Given the description of an element on the screen output the (x, y) to click on. 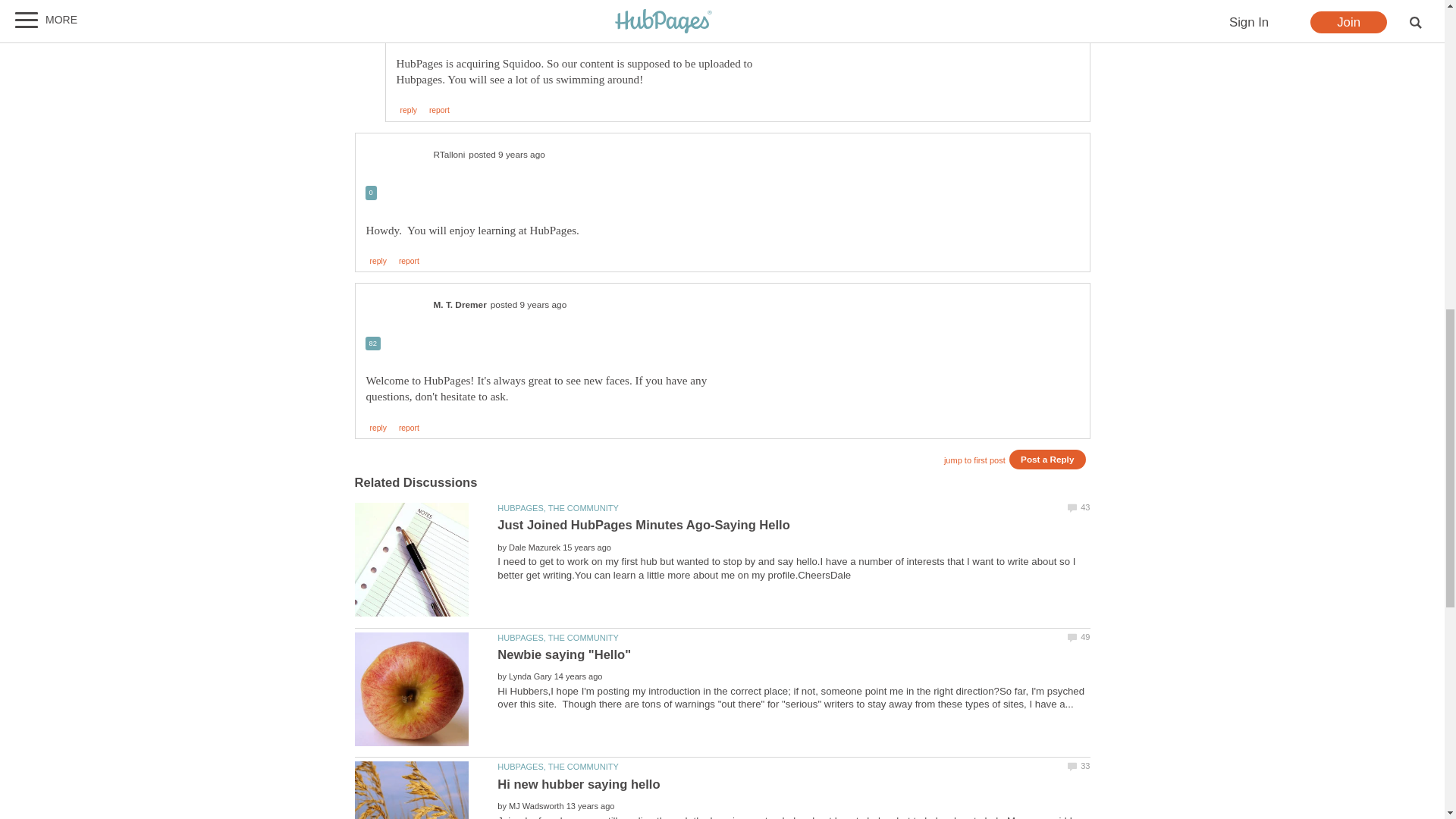
reply (378, 428)
Hubber Score (404, 26)
reply (408, 110)
report (439, 110)
Hubber Score (373, 343)
reply (378, 261)
M. T. Dremer (459, 304)
report (408, 428)
report (408, 261)
